Given the description of an element on the screen output the (x, y) to click on. 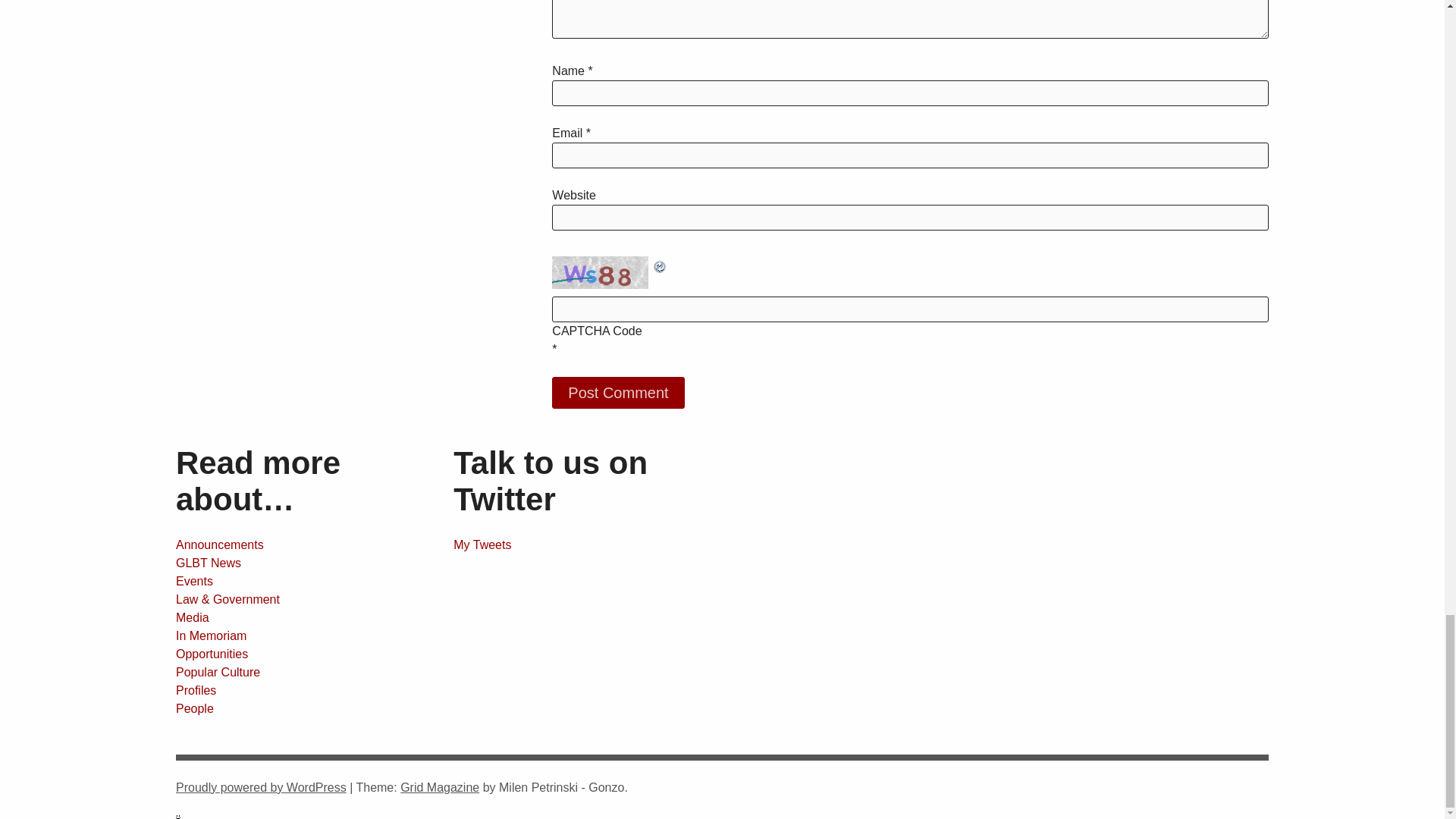
Media (192, 617)
Popular Culture (218, 671)
Announcements (219, 544)
Proudly powered by WordPress (261, 787)
CAPTCHA (601, 272)
Profiles (195, 689)
In Memoriam (211, 635)
Post Comment (617, 392)
My Tweets (481, 544)
Post Comment (617, 392)
Grid Magazine (439, 787)
GLBT News (208, 562)
Opportunities (211, 653)
Refresh (660, 264)
People (195, 707)
